Given the description of an element on the screen output the (x, y) to click on. 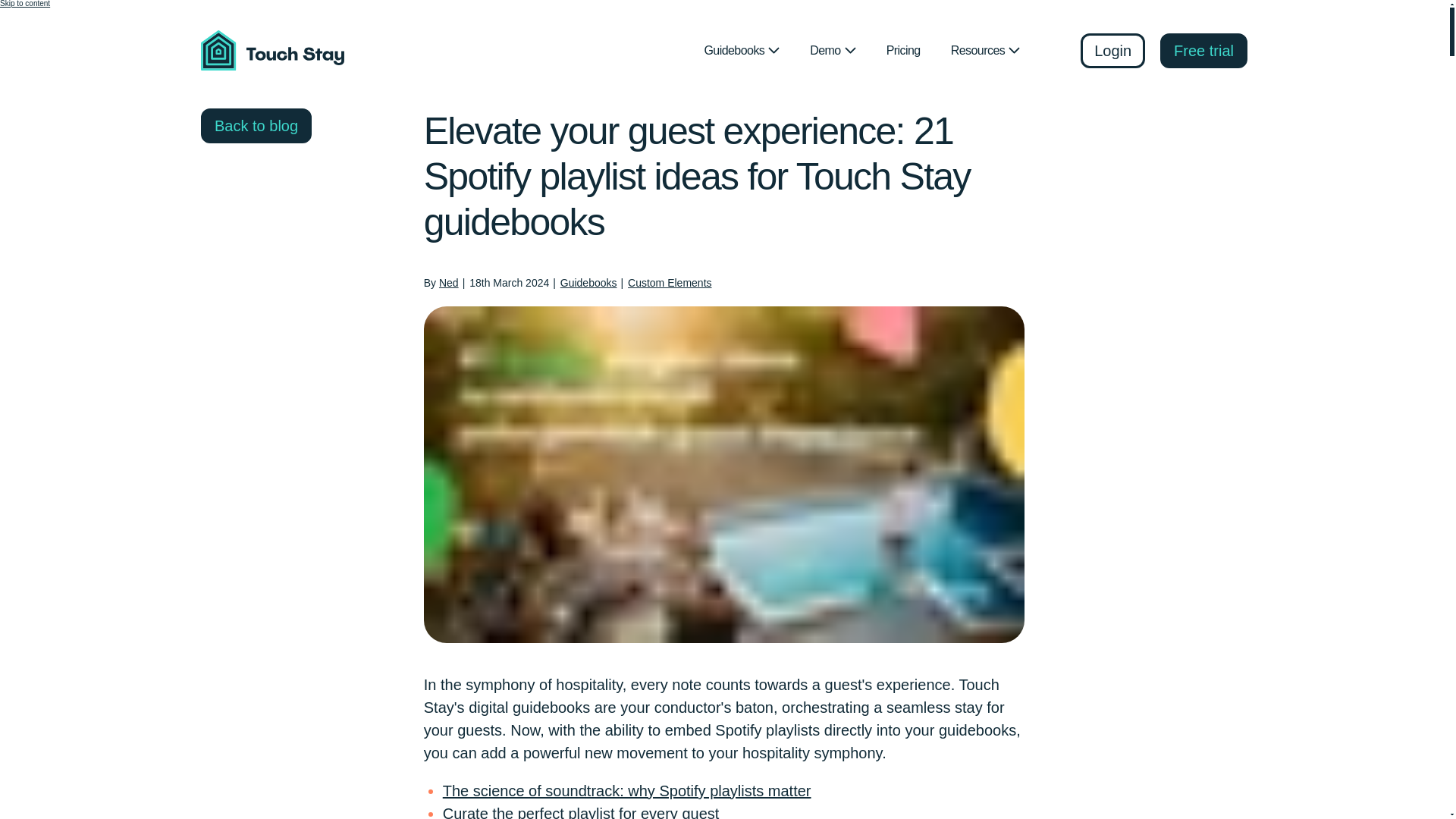
Demo (832, 50)
Resources (985, 50)
Skip to content (24, 3)
Touch Stay (276, 50)
Guidebooks (741, 50)
Pricing (903, 50)
